Given the description of an element on the screen output the (x, y) to click on. 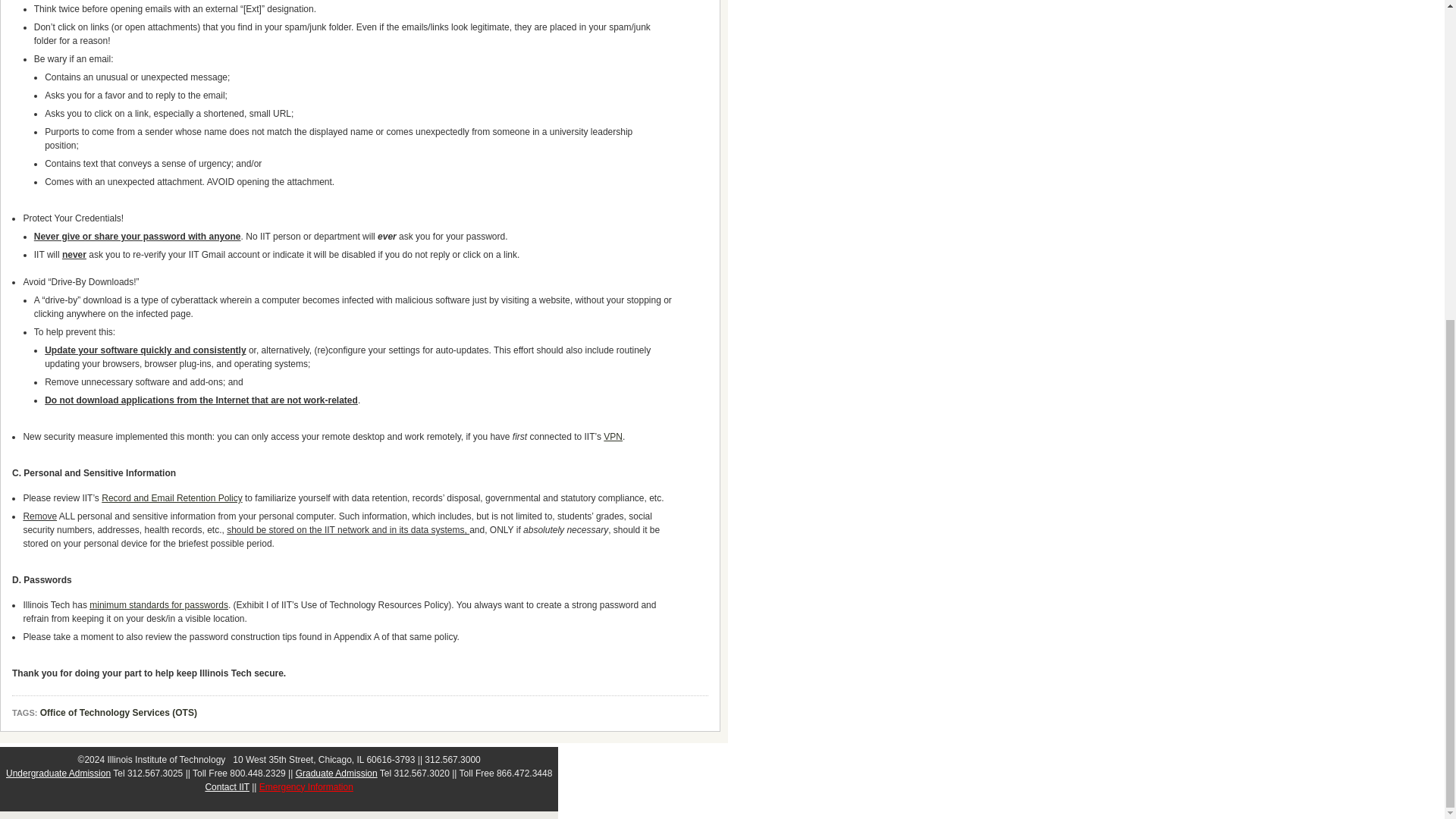
VPN (613, 436)
Record and Email Retention Policy (171, 498)
Graduate Admission (336, 773)
Emergency Information (306, 787)
Contact IIT (226, 787)
Undergraduate Admission (57, 773)
Contact IIT (226, 787)
minimum standards for passwords (158, 604)
